Given the description of an element on the screen output the (x, y) to click on. 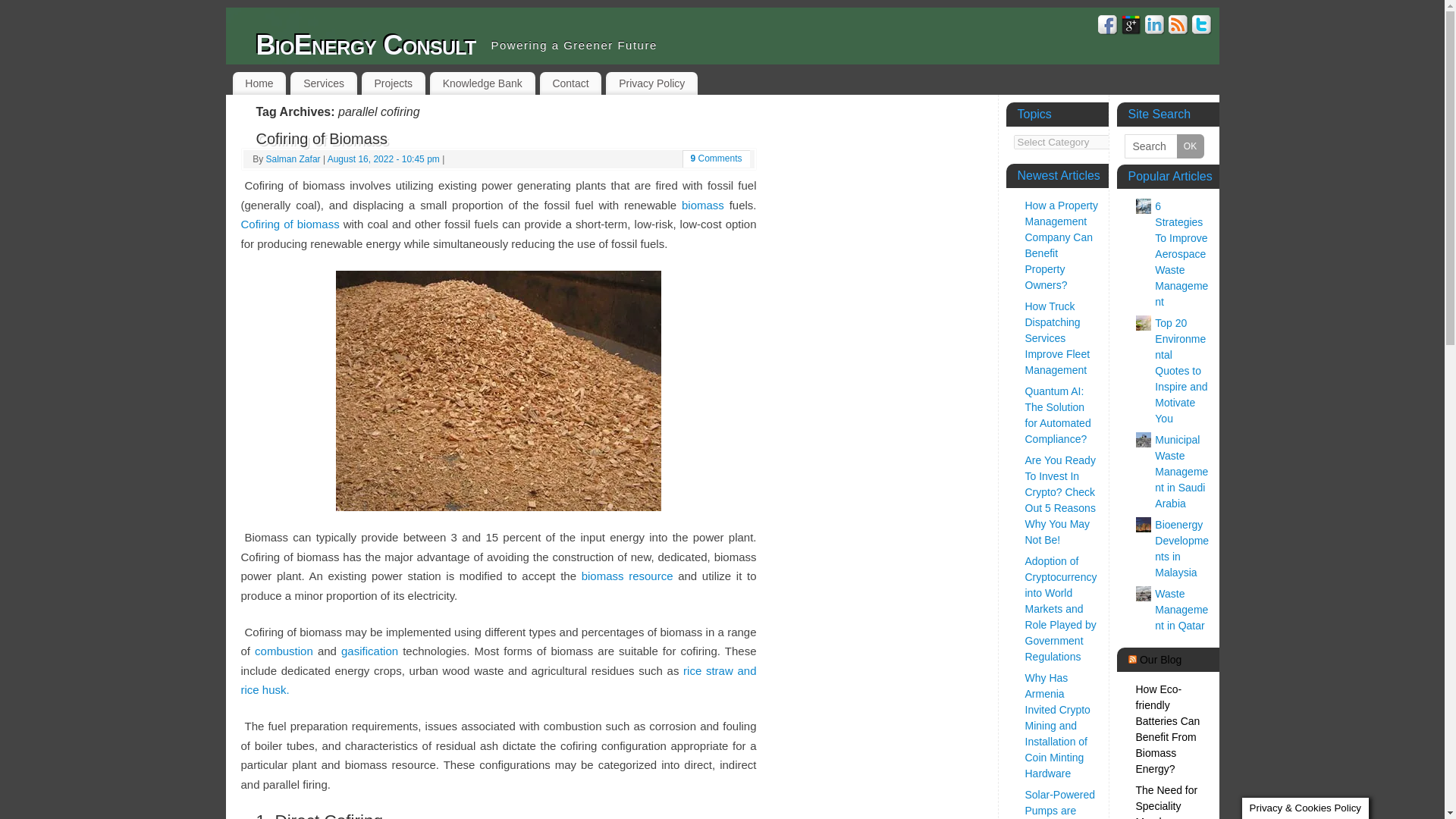
OK (1190, 146)
Permalink to Cofiring of Biomass (321, 138)
Home (258, 83)
Cofiring of Biomass (321, 138)
10:45 pm (383, 158)
August 16, 2022 - 10:45 pm (383, 158)
biomass (702, 205)
Salman Zafar (293, 158)
OK (1190, 146)
Search (1164, 146)
BioEnergy Consult (366, 44)
rice straw and rice husk. (499, 680)
View all posts by Salman Zafar (293, 158)
Contact (571, 83)
BioEnergy Consult (366, 44)
